Given the description of an element on the screen output the (x, y) to click on. 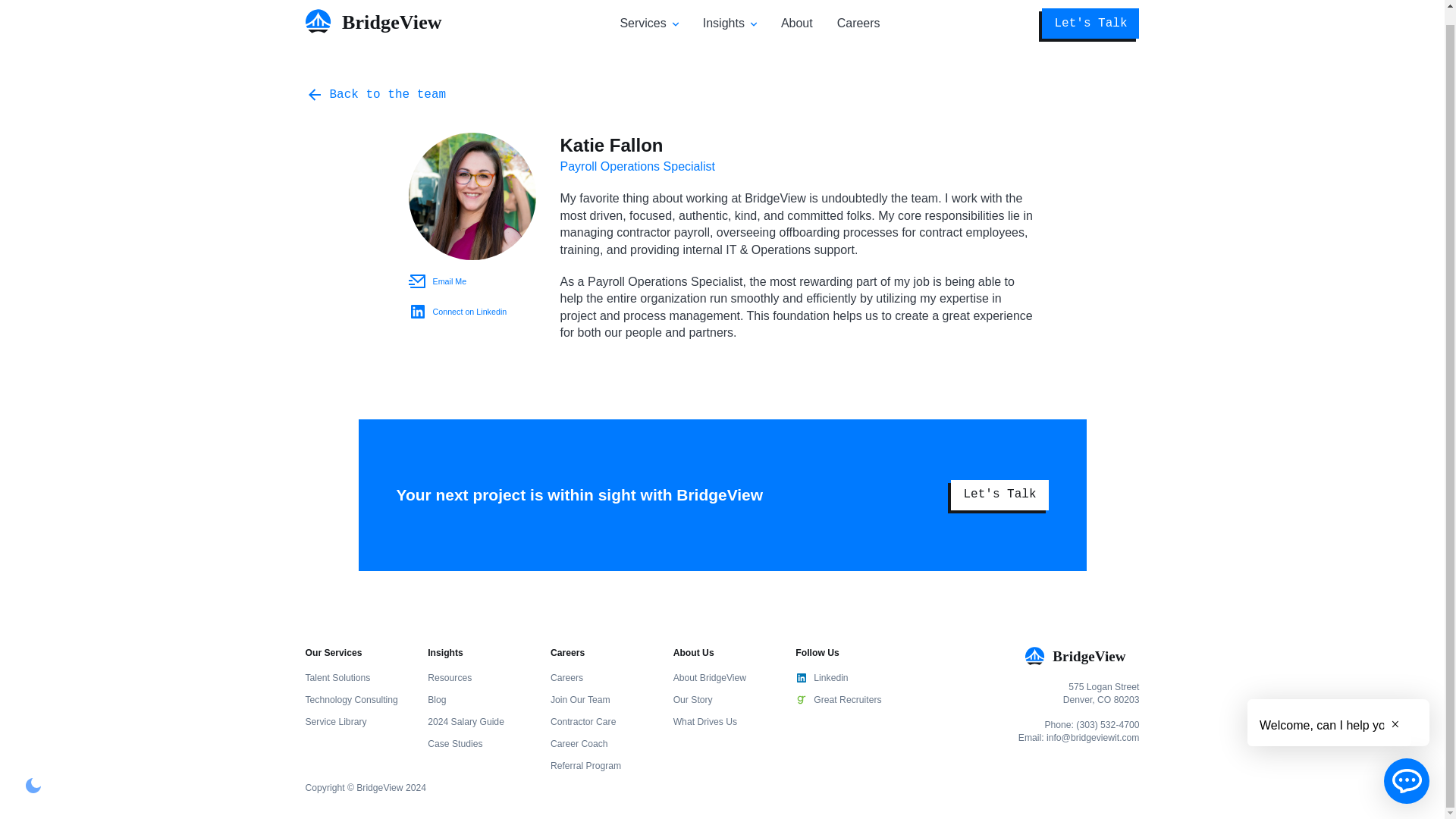
Technology Consulting (350, 699)
Insights (723, 22)
Back to the team (374, 94)
Careers (566, 677)
Great Recruiters (843, 699)
Resources (449, 677)
Let's Talk (1090, 23)
BridgeView (380, 21)
BridgeView (1081, 656)
Connect on Linkedin (471, 311)
Welcome, can I help you? (1328, 708)
Referral Program (585, 765)
2024 Salary Guide (465, 721)
What Drives Us (704, 721)
Services (642, 22)
